Given the description of an element on the screen output the (x, y) to click on. 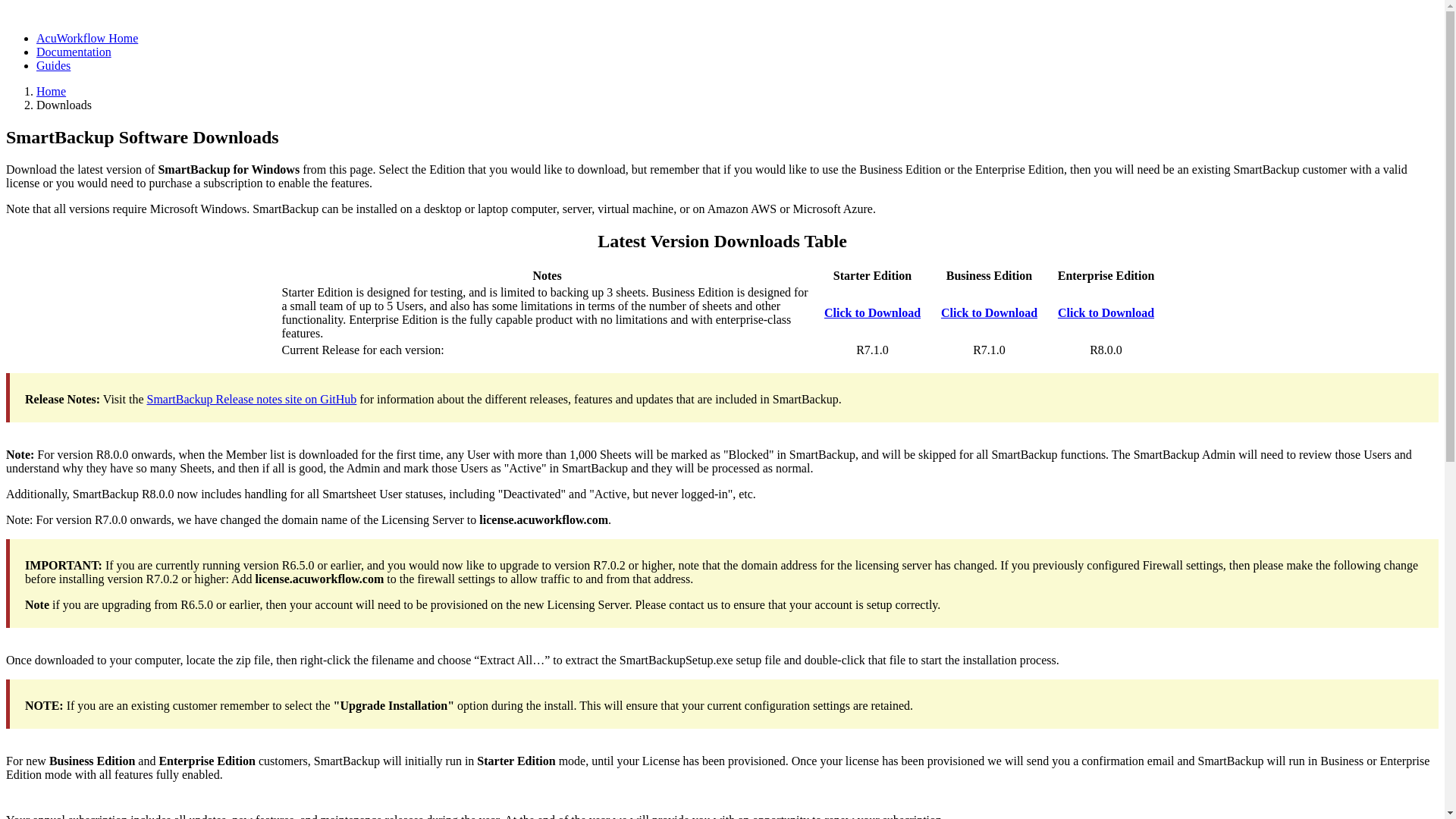
Click to Download (988, 312)
Click to Download (872, 312)
Guides (52, 65)
Home (50, 91)
AcuWorkflow Home (87, 38)
SmartBackup Release notes site on GitHub (251, 399)
Guides (52, 65)
Documentation (74, 51)
Click to Download (1106, 312)
AcuWorkflow Home (87, 38)
Documentation (74, 51)
